Given the description of an element on the screen output the (x, y) to click on. 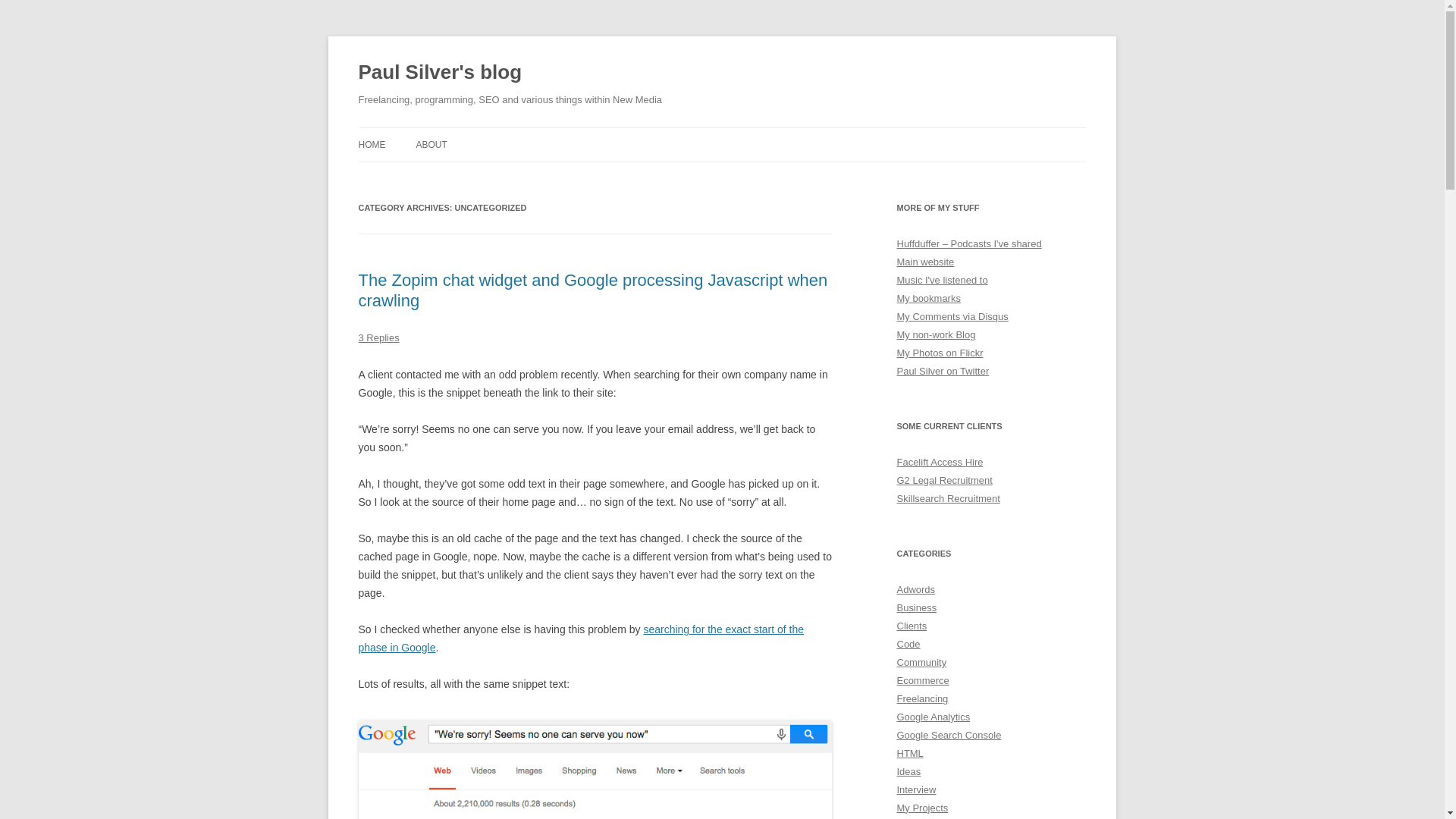
ABOUT (430, 144)
3 Replies (378, 337)
Paul Silver's blog (439, 72)
Cherry picker hire, sales and training (939, 461)
searching for the exact start of the phase in Google (580, 638)
My public bookmarks (927, 297)
